Given the description of an element on the screen output the (x, y) to click on. 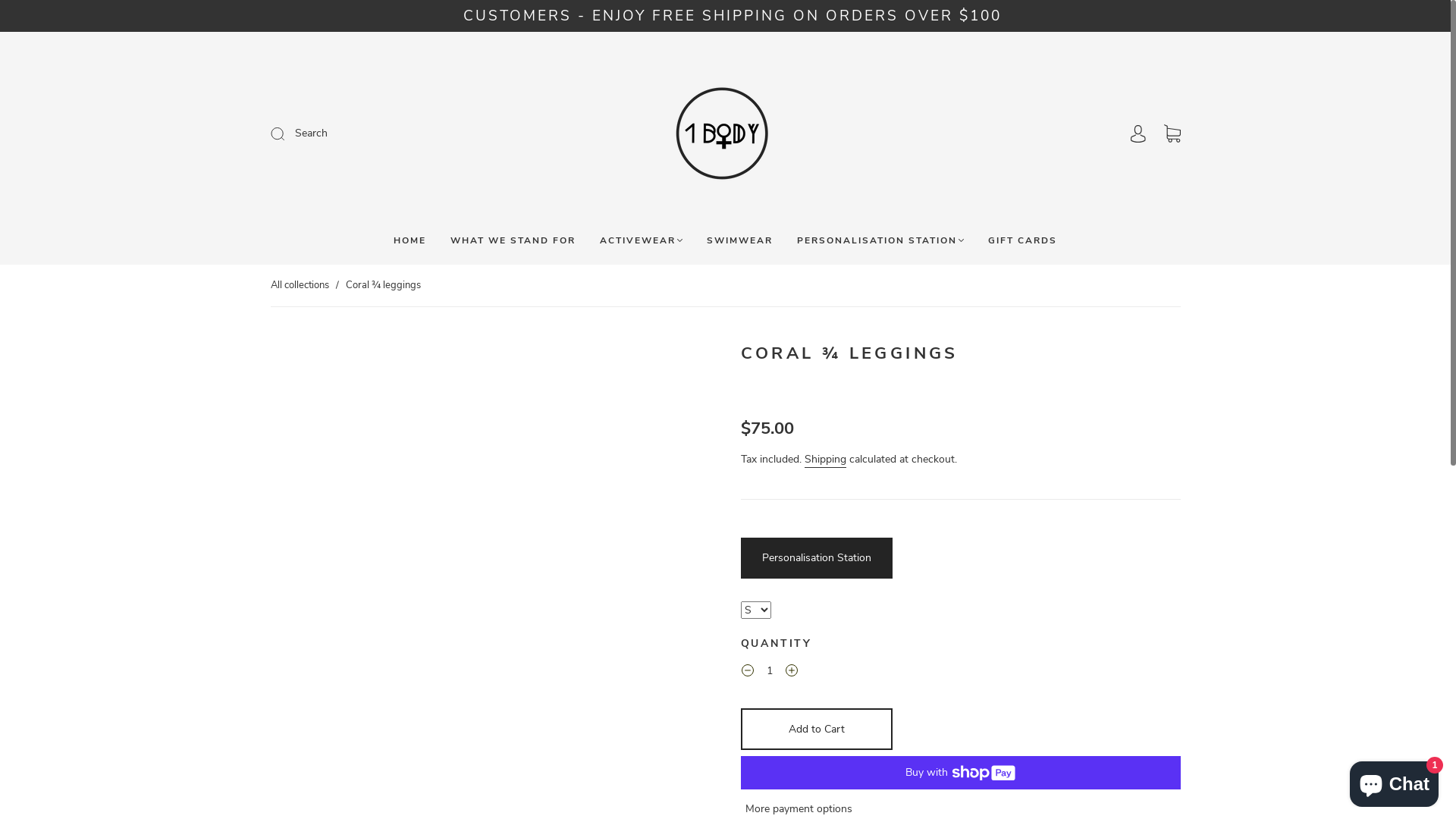
WHAT WE STAND FOR Element type: text (512, 240)
HOME Element type: text (409, 240)
SWIMWEAR Element type: text (739, 240)
Shipping Element type: text (824, 459)
Personalisation Station Element type: text (815, 557)
ACTIVEWEAR Element type: text (640, 240)
Shopify online store chat Element type: hover (1394, 780)
PERSONALISATION STATION Element type: text (880, 240)
Add to Cart Element type: text (815, 728)
GIFT CARDS Element type: text (1022, 240)
All collections Element type: text (298, 284)
More payment options Element type: text (798, 809)
